Given the description of an element on the screen output the (x, y) to click on. 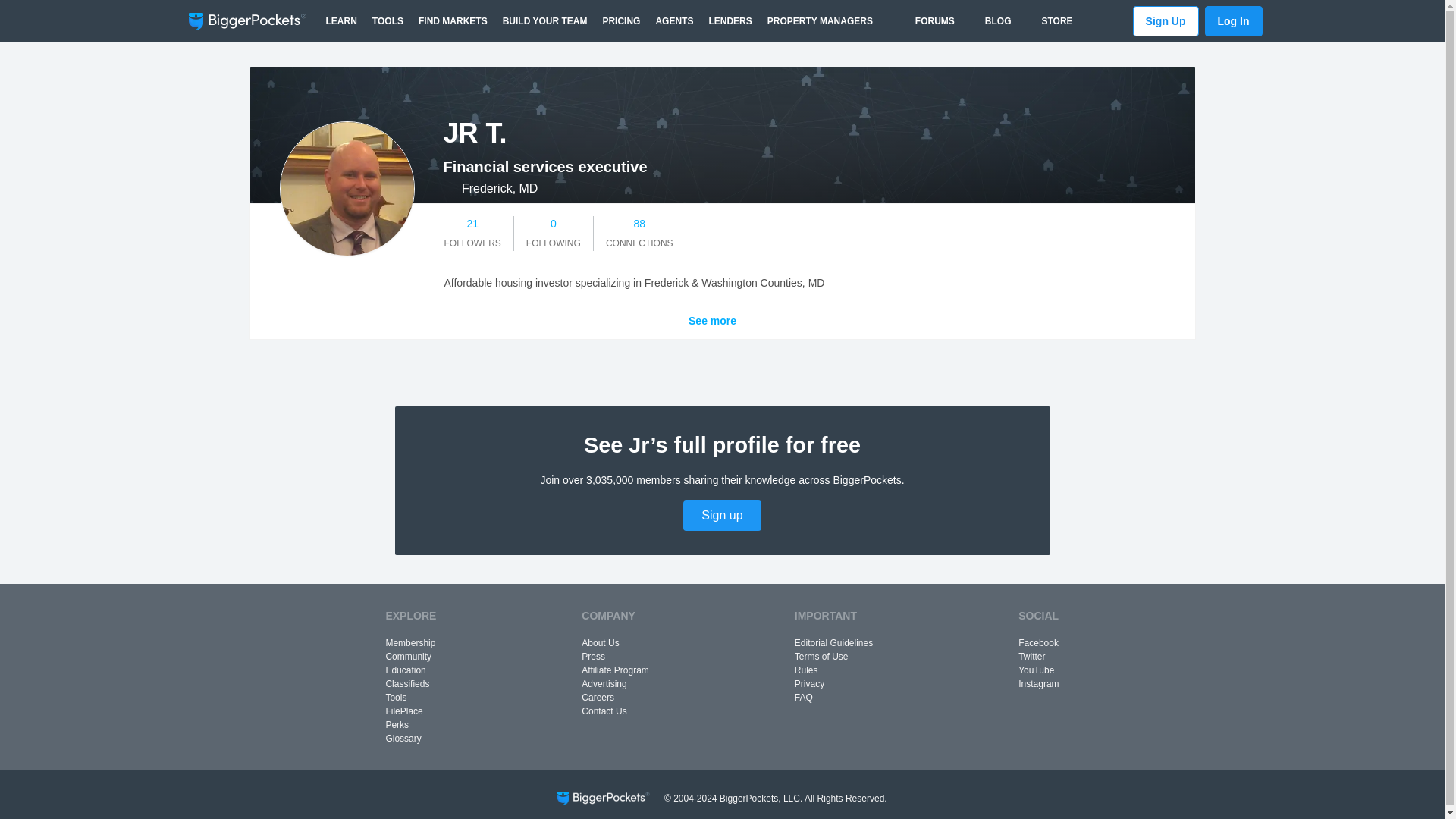
Store (1048, 21)
Forums (927, 21)
BiggerPockets Homepage (246, 21)
Location 2 (448, 188)
Agents (673, 21)
Arrow Down Light (747, 321)
Learn (341, 21)
Build Your Team (545, 21)
Property Managers (820, 21)
Lenders (729, 21)
LEARN (341, 21)
Tools (387, 21)
Find Markets (452, 21)
Pricing (620, 21)
Blog (990, 21)
